Given the description of an element on the screen output the (x, y) to click on. 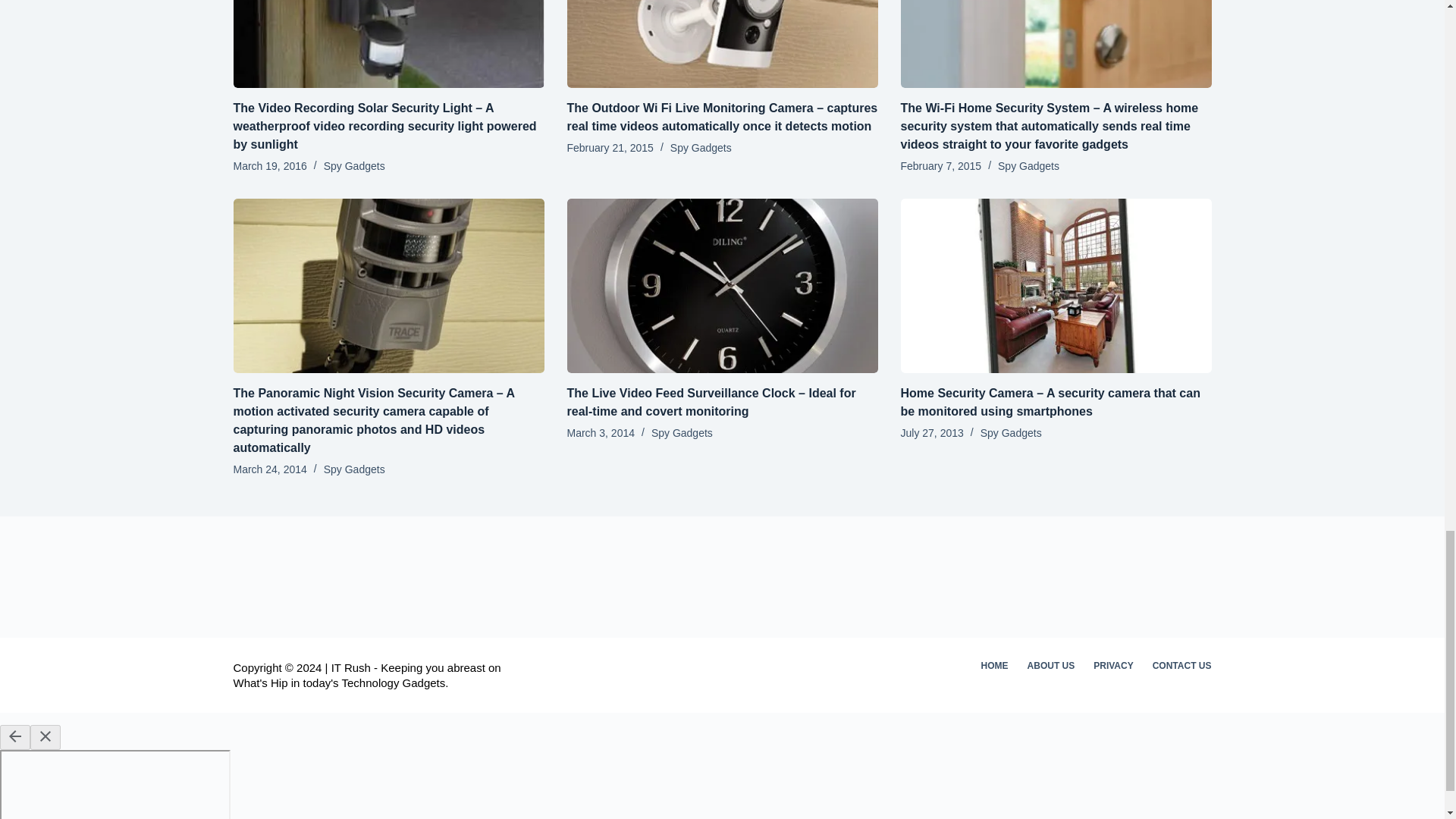
Spy Gadgets (354, 165)
